Given the description of an element on the screen output the (x, y) to click on. 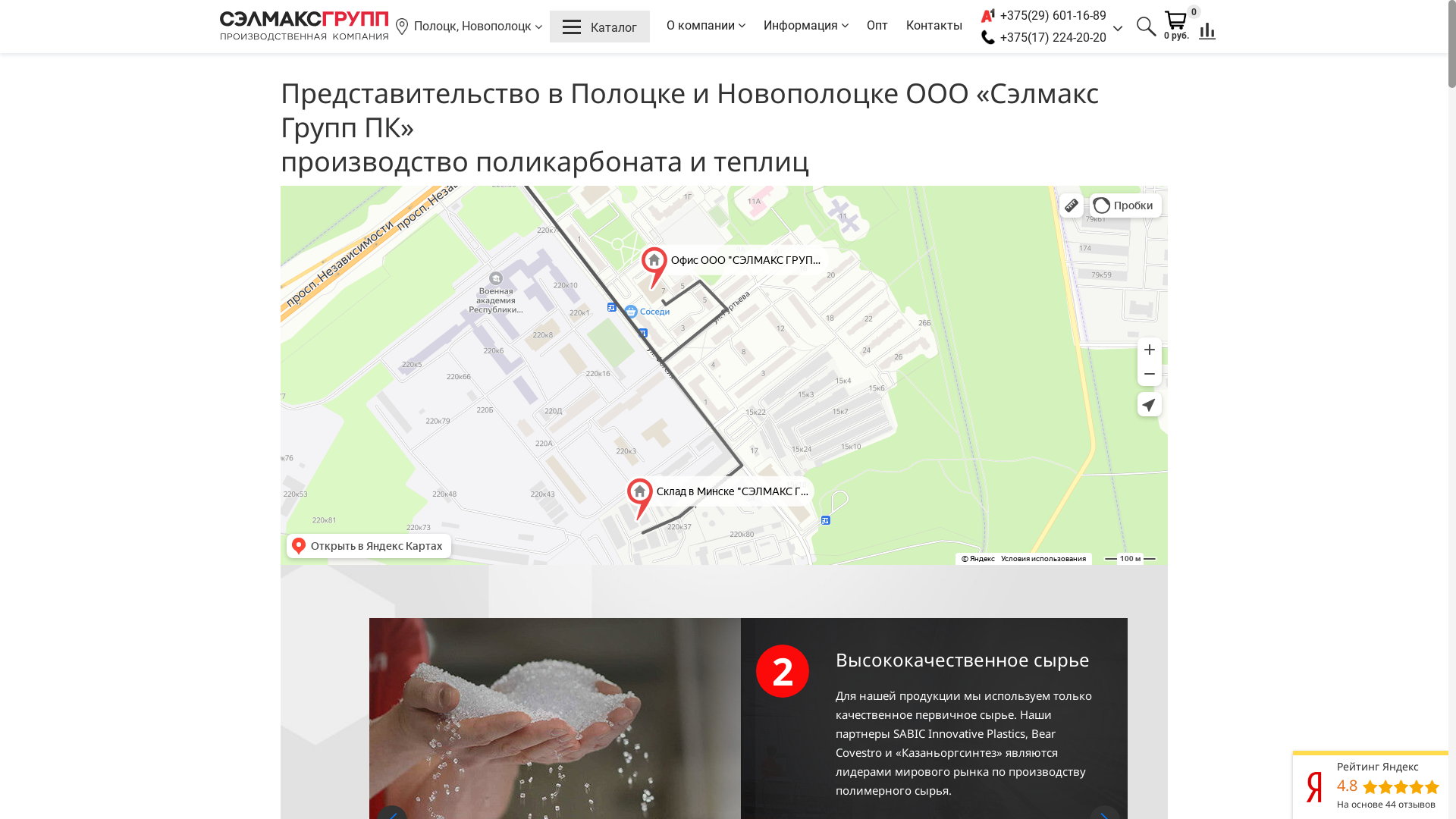
+375(29) 601-16-89 Element type: text (1053, 15)
+375(17) 224-20-20 Element type: text (1053, 37)
